Given the description of an element on the screen output the (x, y) to click on. 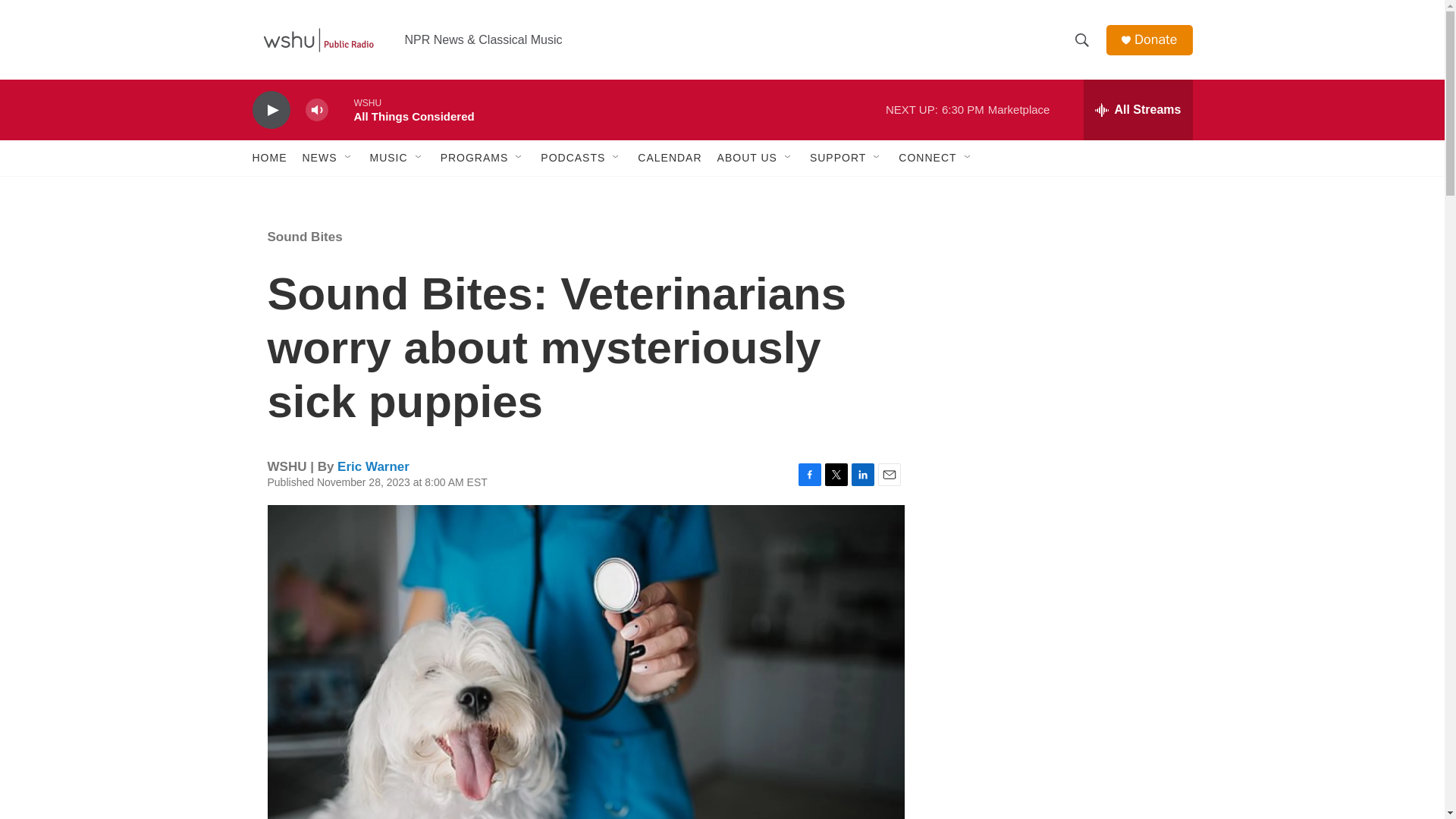
3rd party ad content (1062, 740)
3rd party ad content (1062, 316)
3rd party ad content (1062, 536)
